Given the description of an element on the screen output the (x, y) to click on. 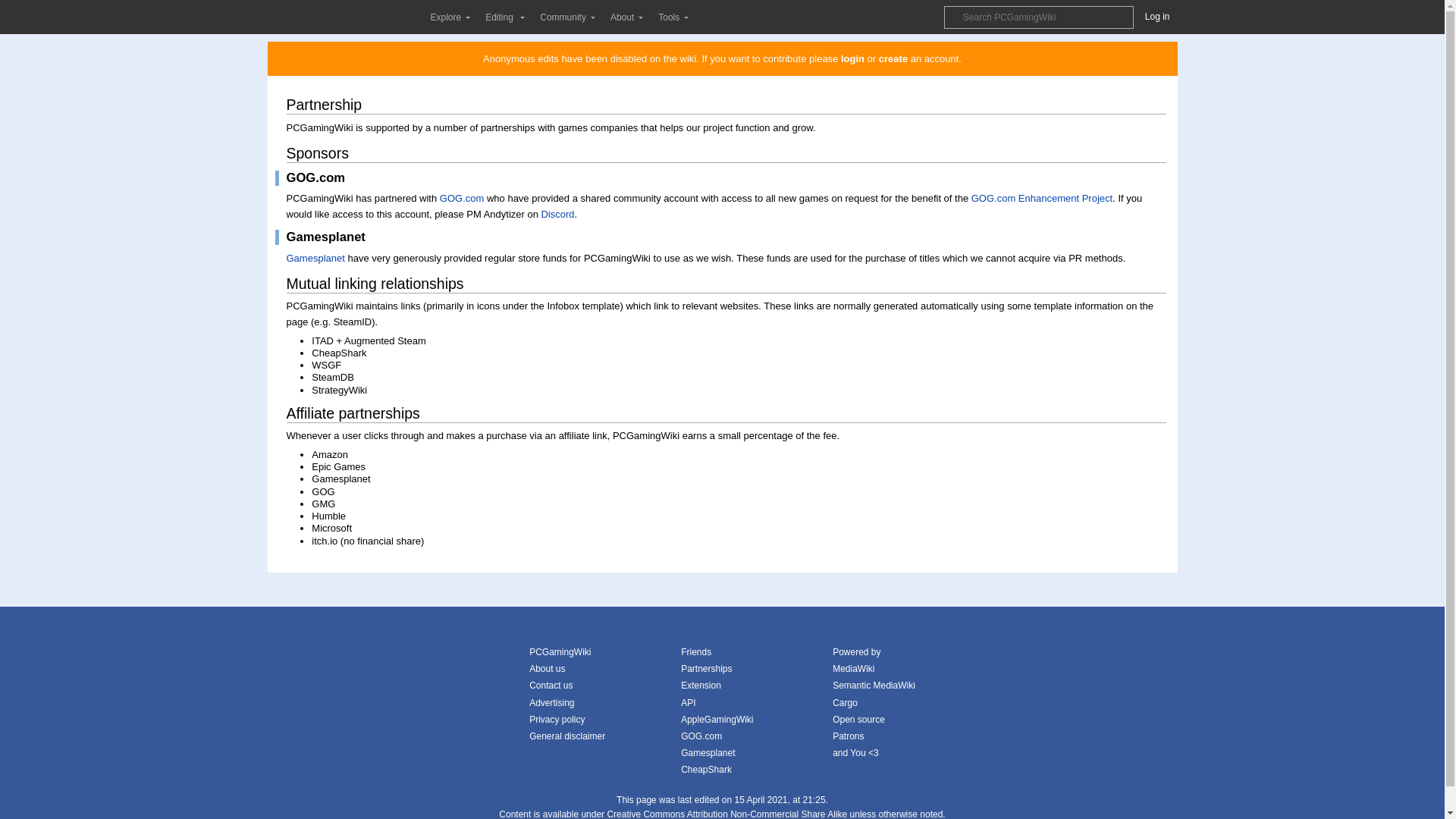
PCGamingWiki:Discord (558, 214)
PCGamingWiki:GOG.com Enhancement Project (1041, 197)
login (852, 58)
GOG.com (461, 197)
create (893, 58)
Log in (1157, 15)
